Given the description of an element on the screen output the (x, y) to click on. 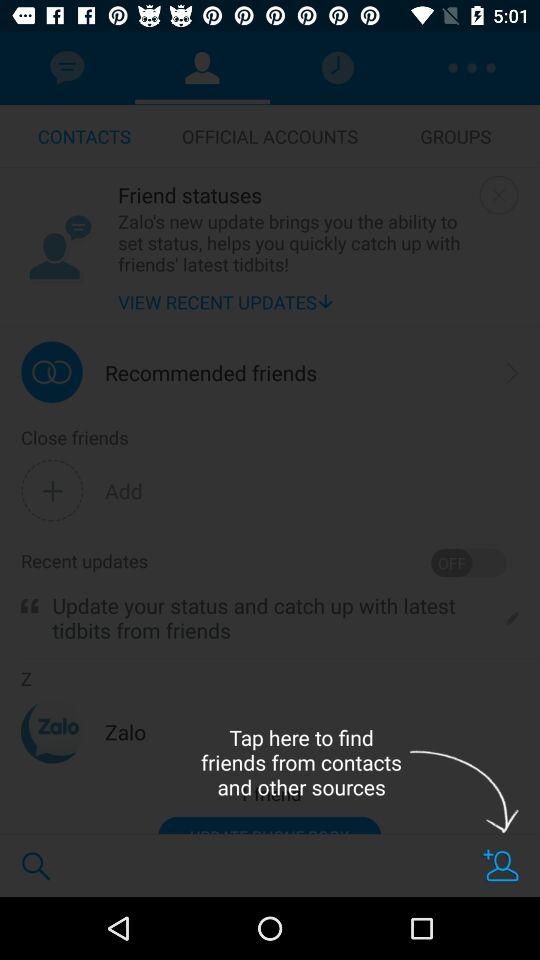
scroll until 1 friend item (269, 793)
